Given the description of an element on the screen output the (x, y) to click on. 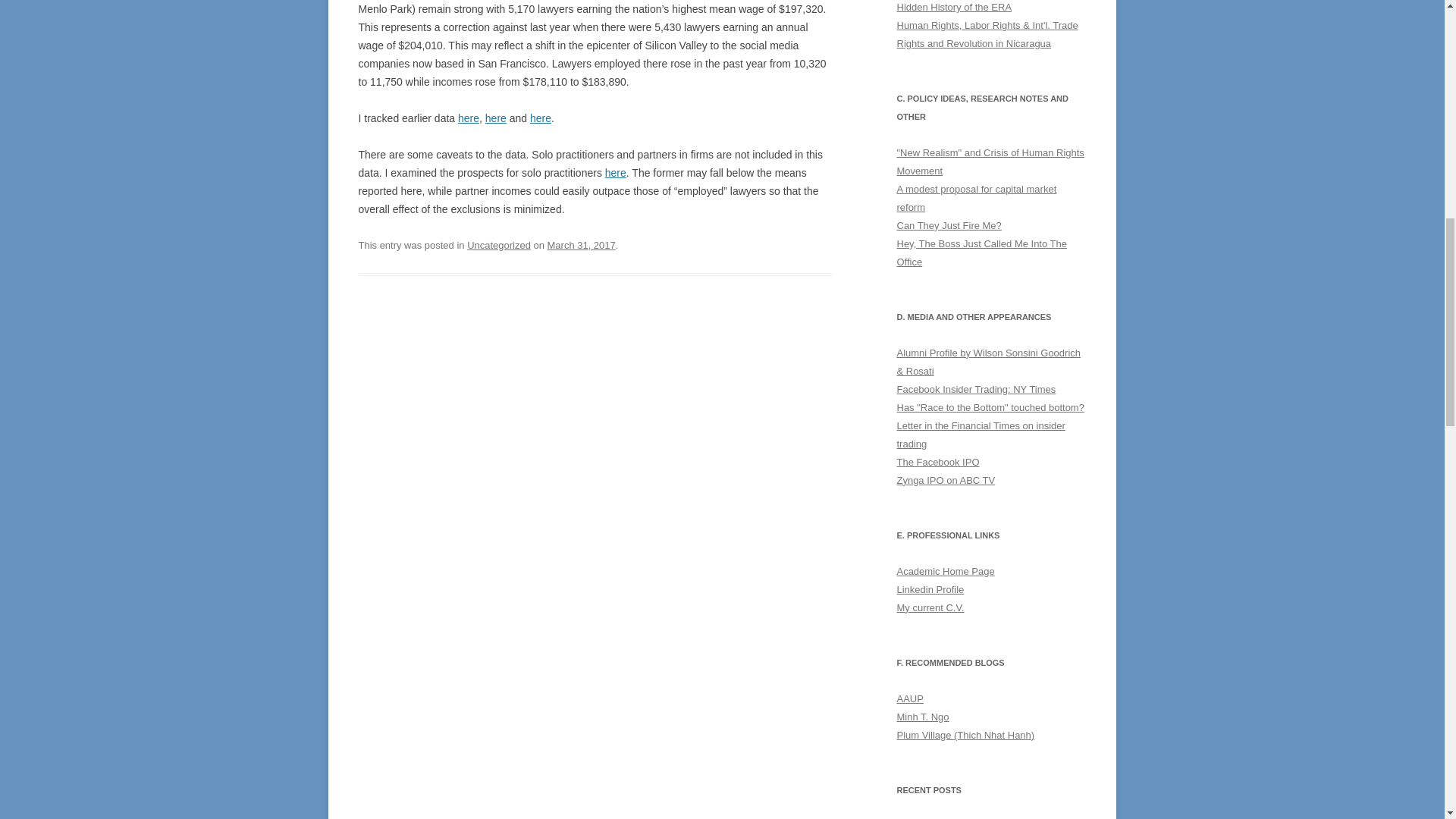
Uncategorized (499, 244)
March 31, 2017 (581, 244)
Hidden History of ERA (953, 7)
here (468, 118)
Hidden History of the ERA (953, 7)
Can They Just Fire Me? (948, 225)
12:56 pm (581, 244)
My Union! (909, 698)
Rights and Revolution (973, 43)
A current version of my CV (929, 607)
here (540, 118)
A modest proposal for capital market reform (976, 197)
WSGR Alumni Profile (988, 361)
"New Realism" and Crisis of Human Rights Movement (989, 161)
Hey, The Boss Just Called Me Into The Office (980, 252)
